Given the description of an element on the screen output the (x, y) to click on. 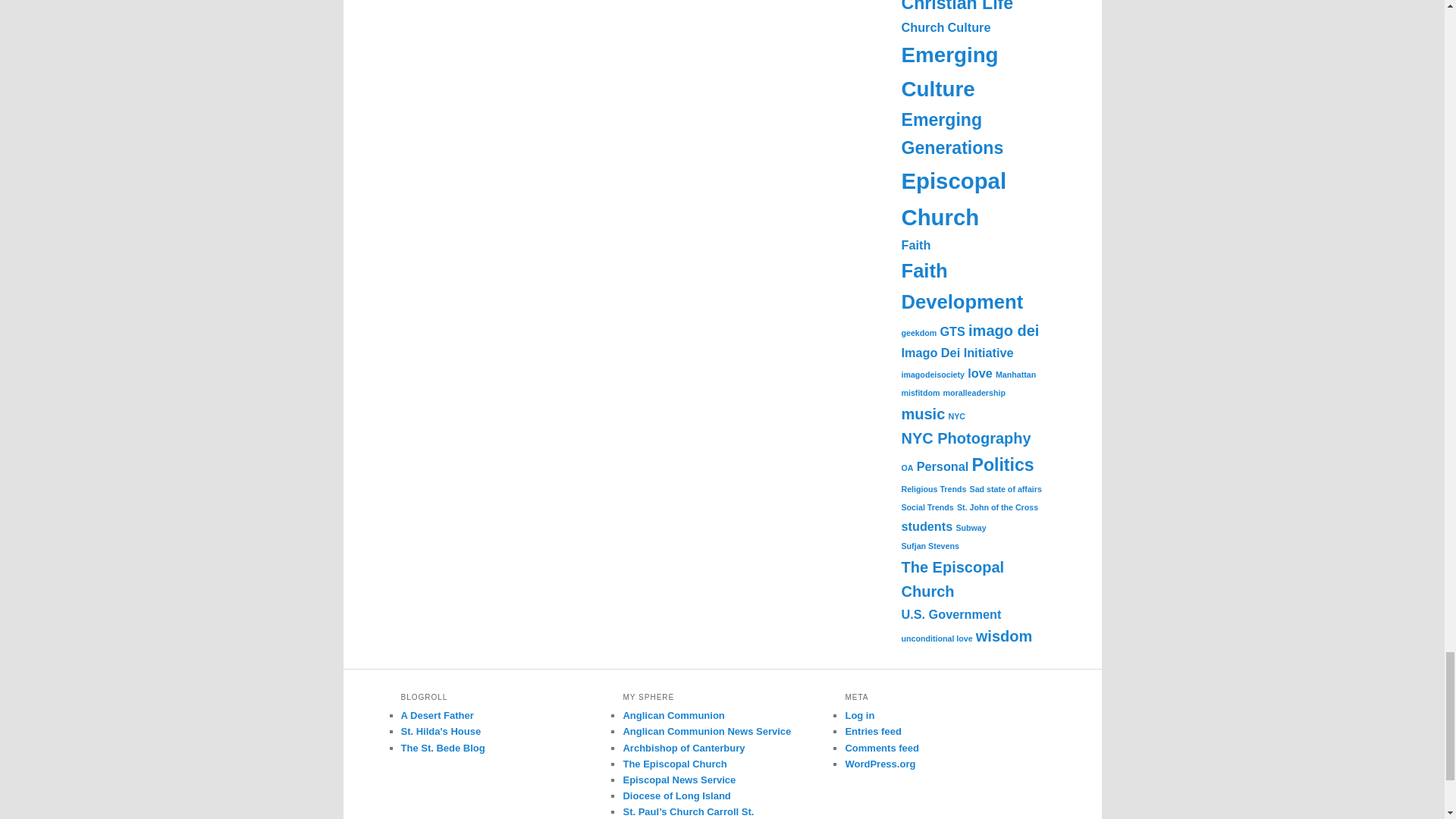
The blog of Fr. Robert Hendrickson (436, 715)
Blog of Dr. Derek Olsen (442, 747)
